Given the description of an element on the screen output the (x, y) to click on. 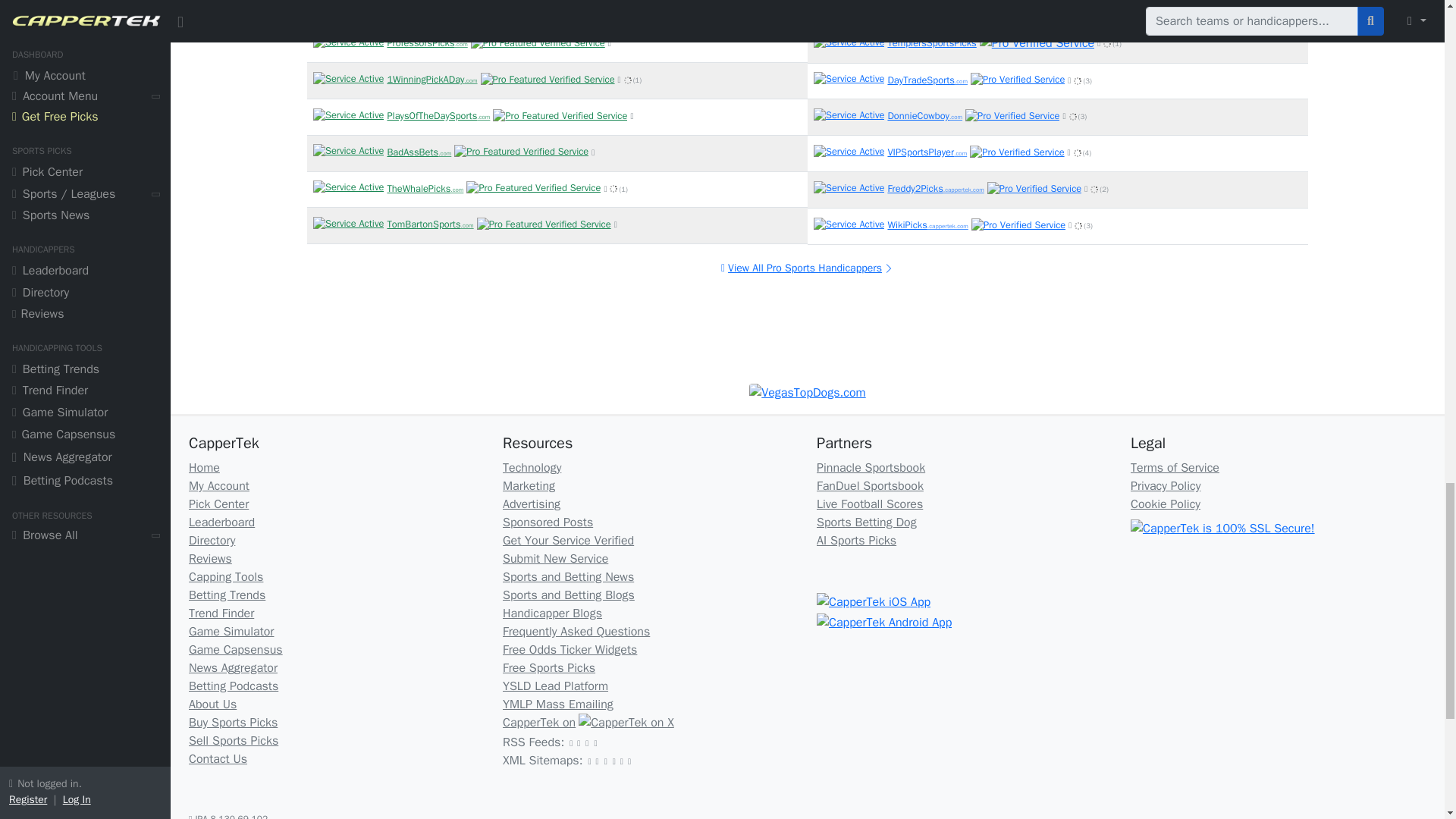
Pro Featured Verified Service (459, 6)
Pro Featured Verified Service (457, 42)
Service Active (348, 6)
Pro Featured Verified Service (541, 7)
Service Active (348, 42)
